Given the description of an element on the screen output the (x, y) to click on. 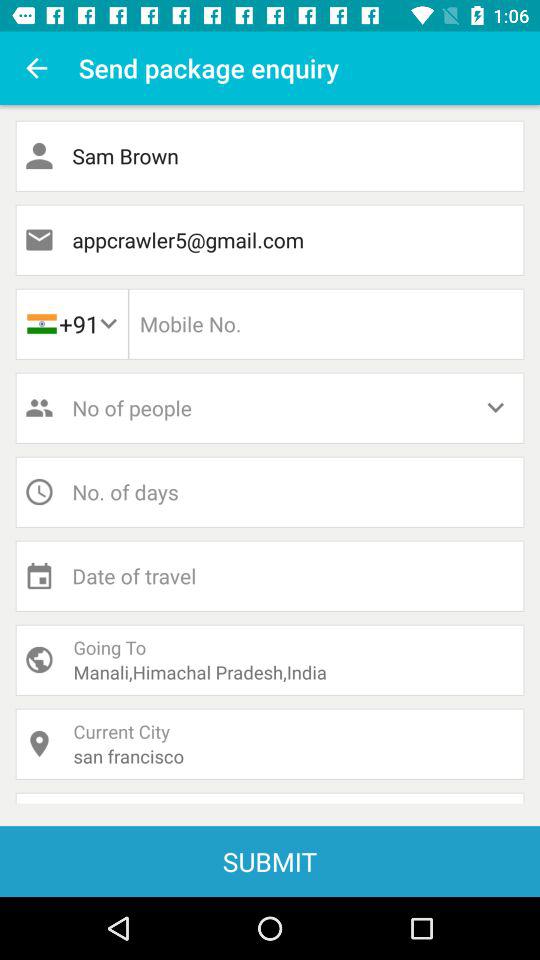
select submit icon (270, 861)
